Given the description of an element on the screen output the (x, y) to click on. 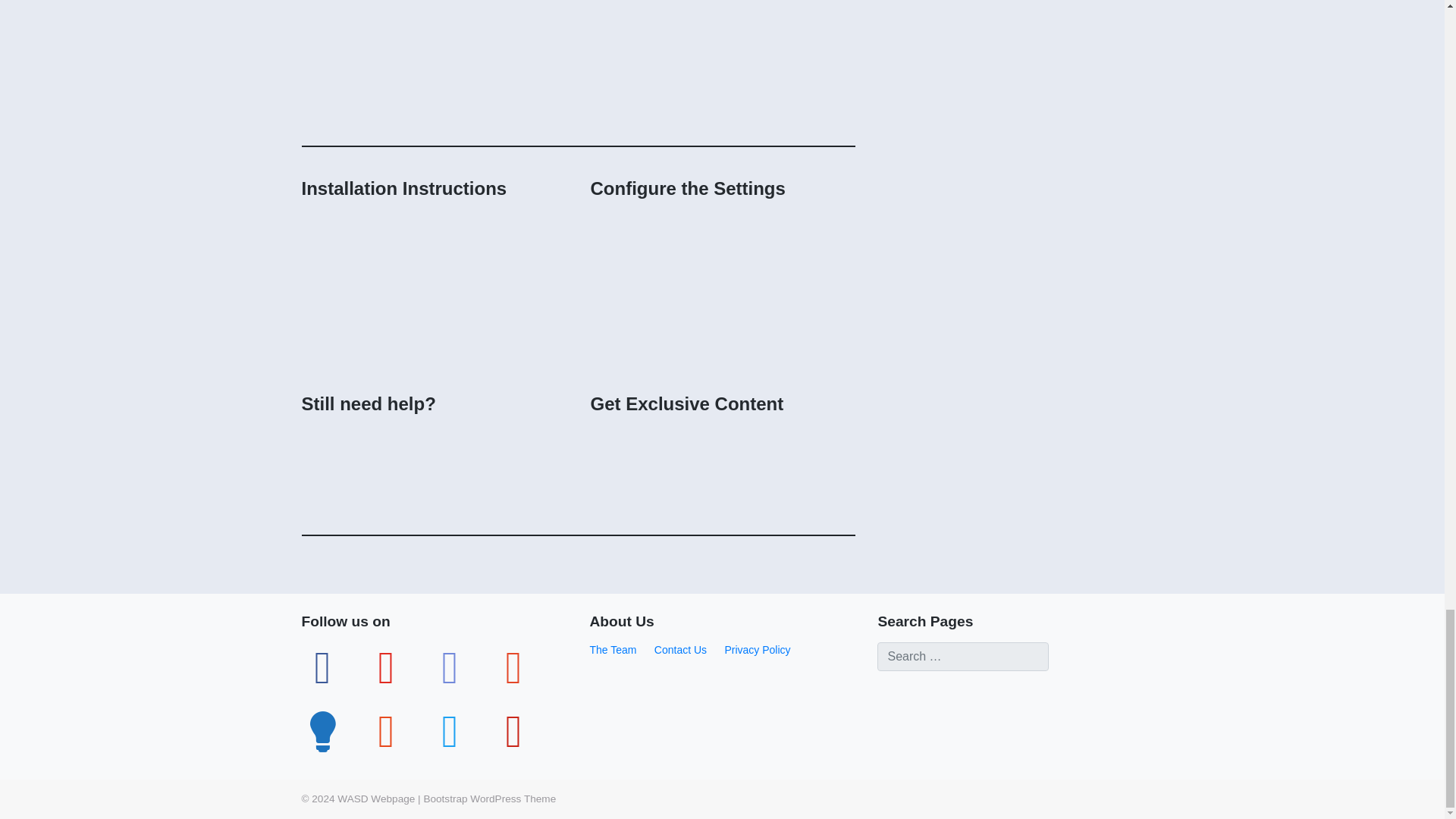
discord (450, 666)
Contact Us (679, 649)
The Team (612, 649)
reddit (386, 730)
pinterest (513, 730)
lightbulb (323, 730)
youtube (386, 666)
twitter (450, 730)
Bootstrap WordPress Theme (489, 798)
patreon (513, 666)
Privacy Policy (756, 649)
facebook (323, 666)
WASD Webpage (375, 798)
